Given the description of an element on the screen output the (x, y) to click on. 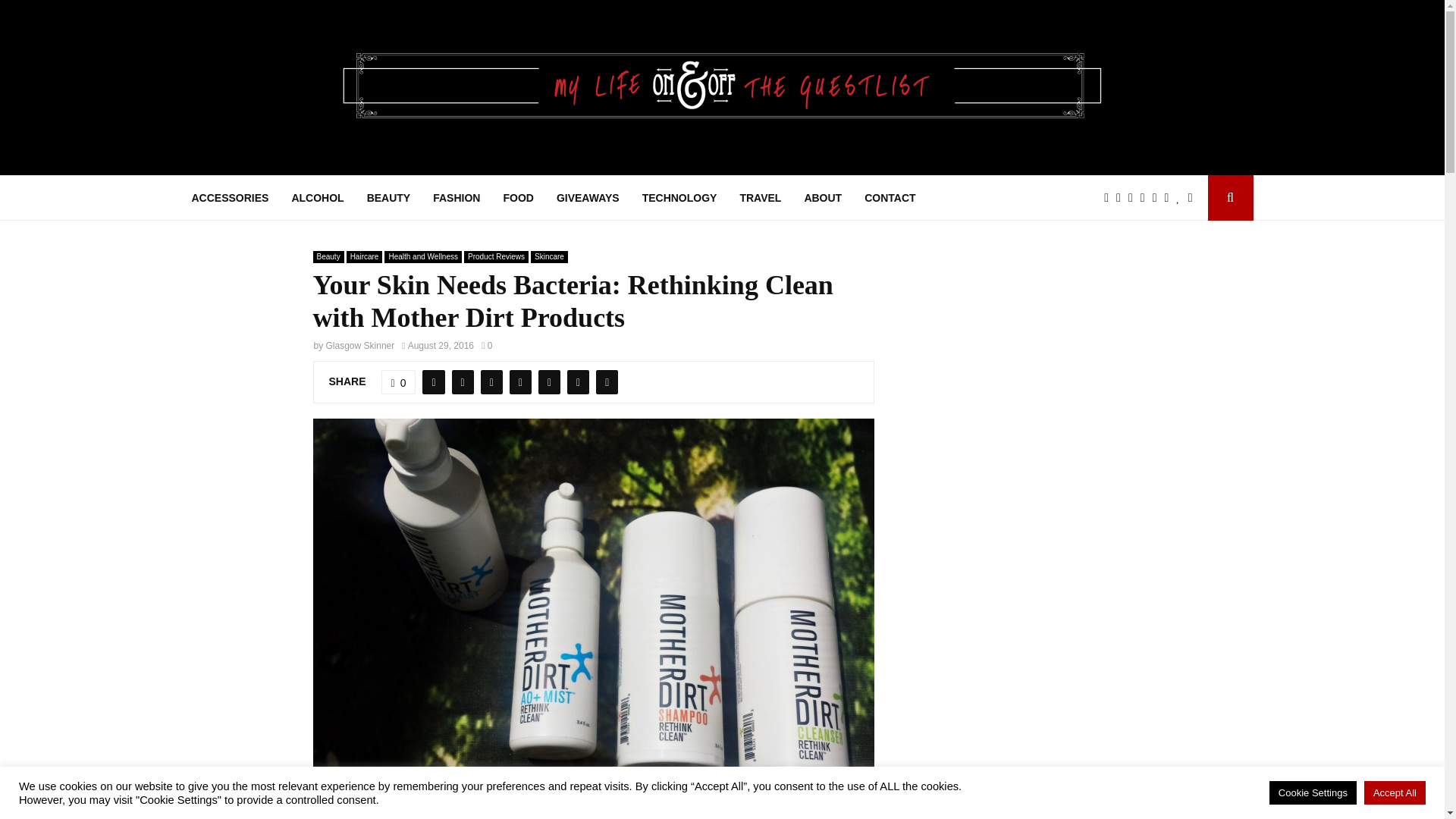
ALCOHOL (317, 197)
TECHNOLOGY (679, 197)
Skincare (549, 256)
Haircare (364, 256)
0 (398, 381)
Product Reviews (496, 256)
FASHION (456, 197)
TRAVEL (759, 197)
Glasgow Skinner (360, 345)
Beauty (328, 256)
Health and Wellness (422, 256)
ACCESSORIES (228, 197)
0 (486, 345)
CONTACT (889, 197)
GIVEAWAYS (588, 197)
